Given the description of an element on the screen output the (x, y) to click on. 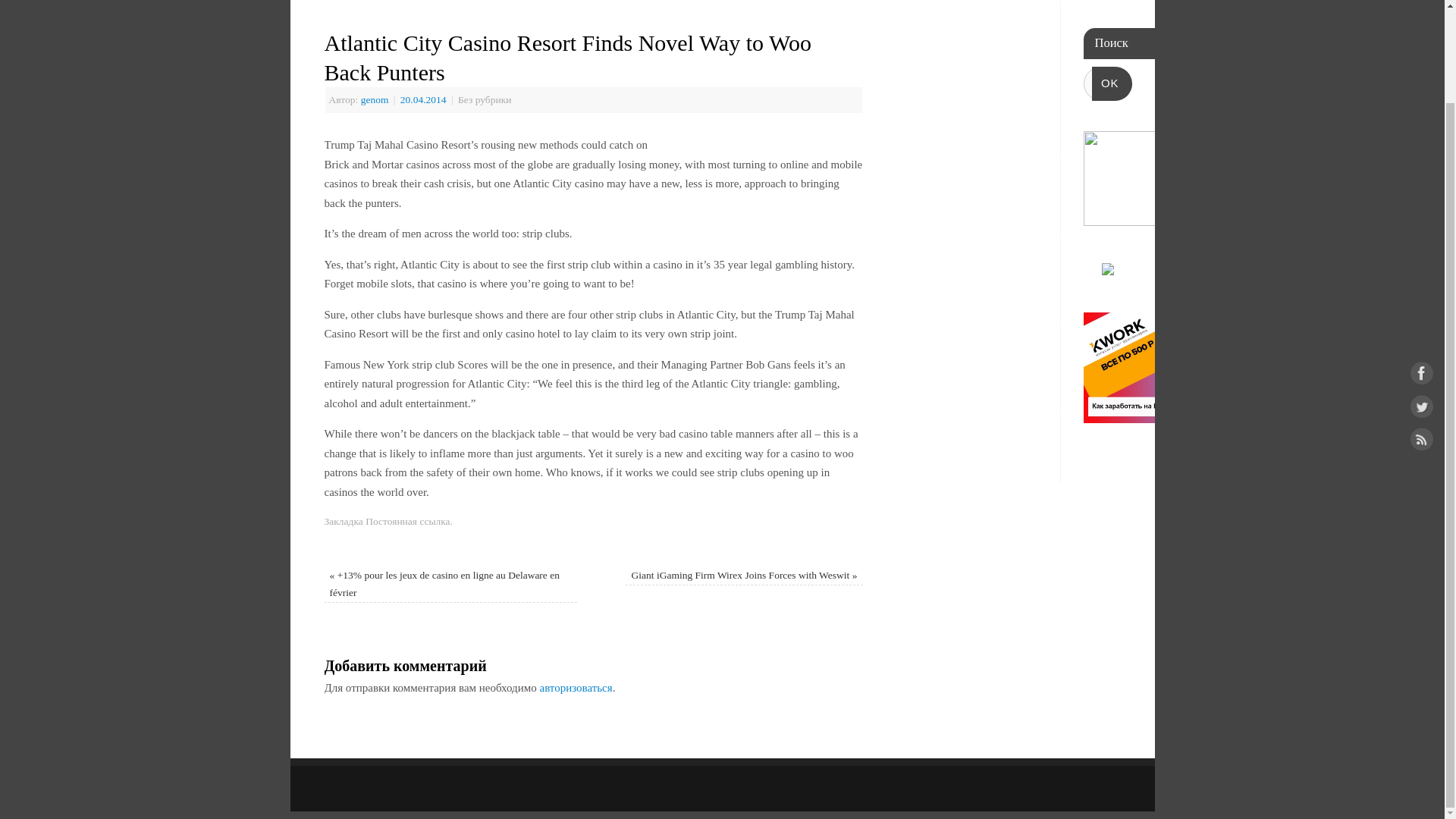
OK (1112, 83)
00:53 (424, 99)
genom (374, 99)
20.04.2014 (424, 99)
